Given the description of an element on the screen output the (x, y) to click on. 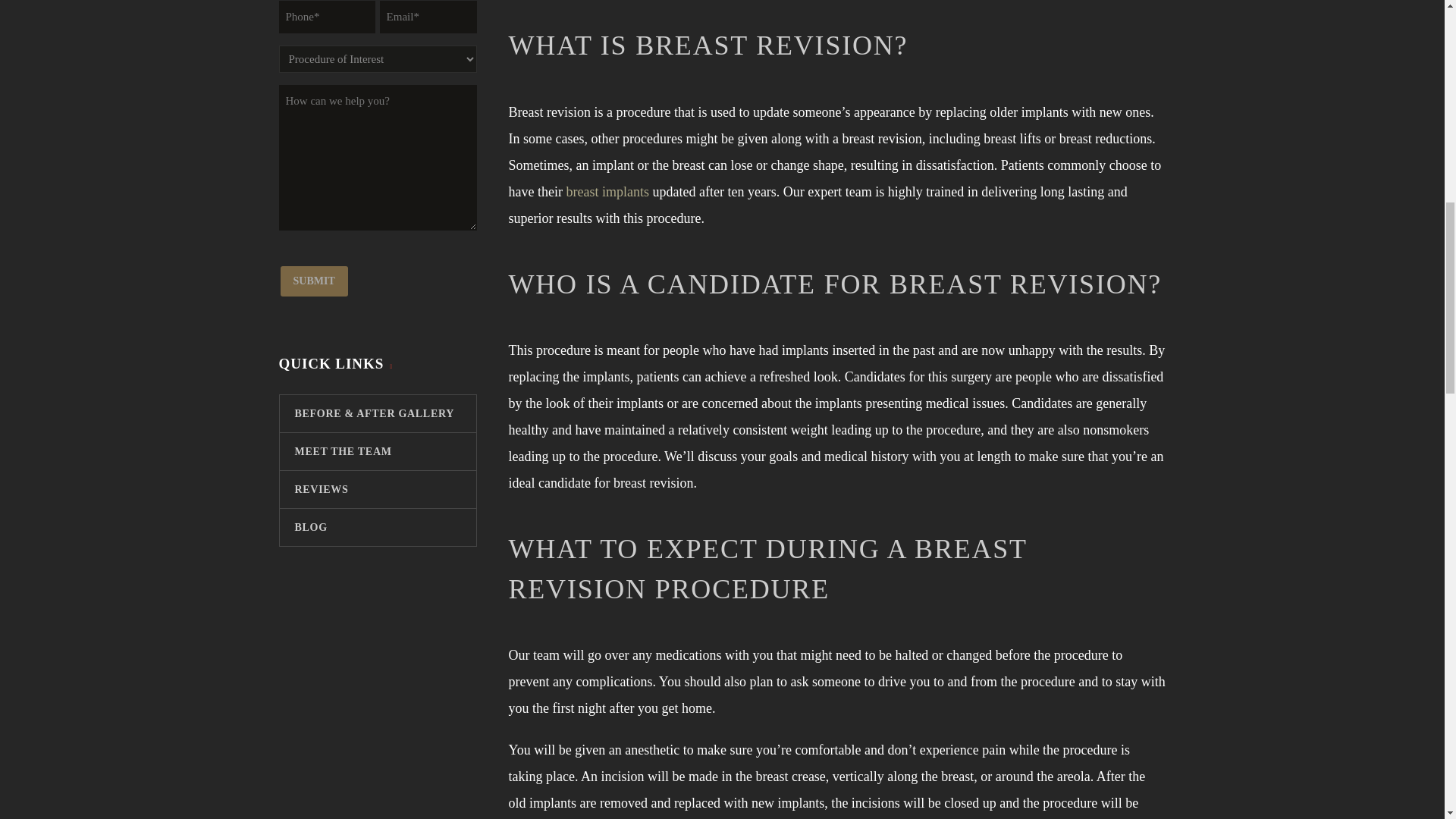
Submit (314, 281)
